Given the description of an element on the screen output the (x, y) to click on. 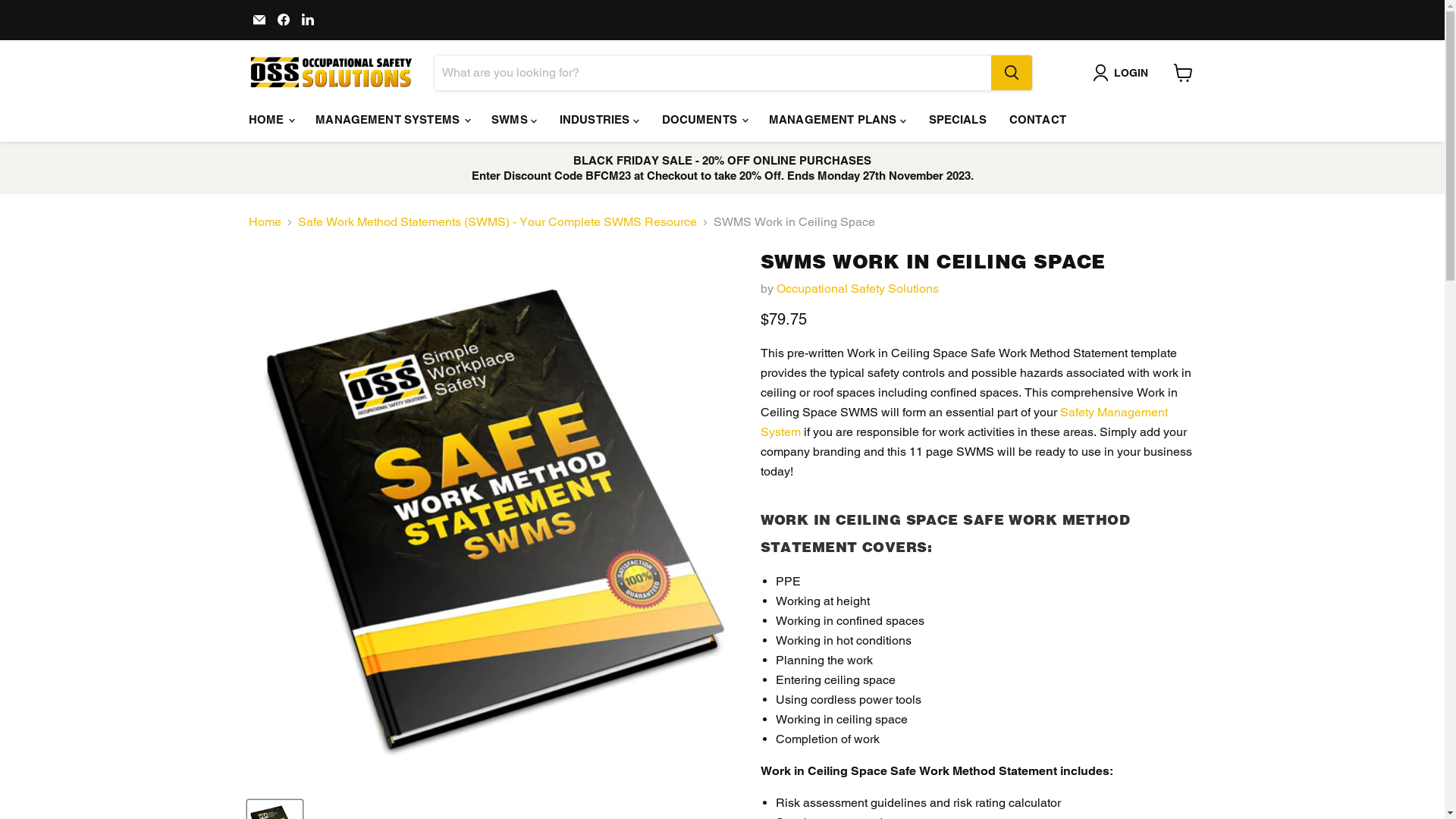
Safety Management System Element type: text (963, 421)
LOGIN Element type: text (1123, 72)
Find us on LinkedIn Element type: text (307, 19)
View cart Element type: text (1183, 72)
Occupational Safety Solutions Element type: text (857, 288)
CONTACT Element type: text (1037, 119)
Find us on Facebook Element type: text (283, 19)
SPECIALS Element type: text (957, 119)
Home Element type: text (264, 222)
Email Occupational Safety Solutions Element type: text (258, 19)
